Given the description of an element on the screen output the (x, y) to click on. 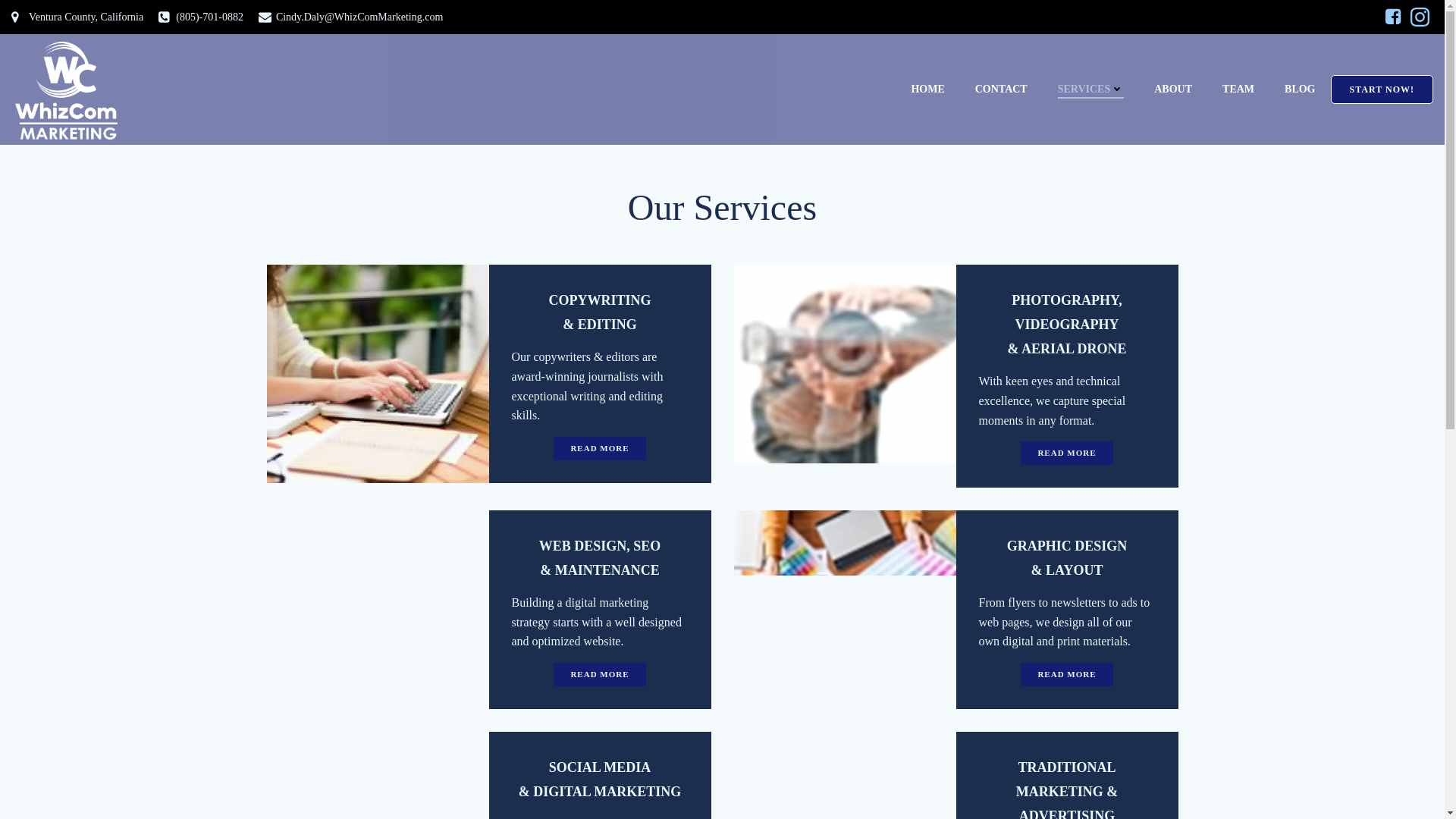
START NOW! (1381, 89)
SERVICES (1091, 89)
BLOG (1299, 89)
TEAM (1238, 89)
HOME (927, 90)
READ MORE (599, 674)
CONTACT (1001, 89)
READ MORE (1066, 453)
ABOUT (1173, 89)
READ MORE (599, 448)
